Given the description of an element on the screen output the (x, y) to click on. 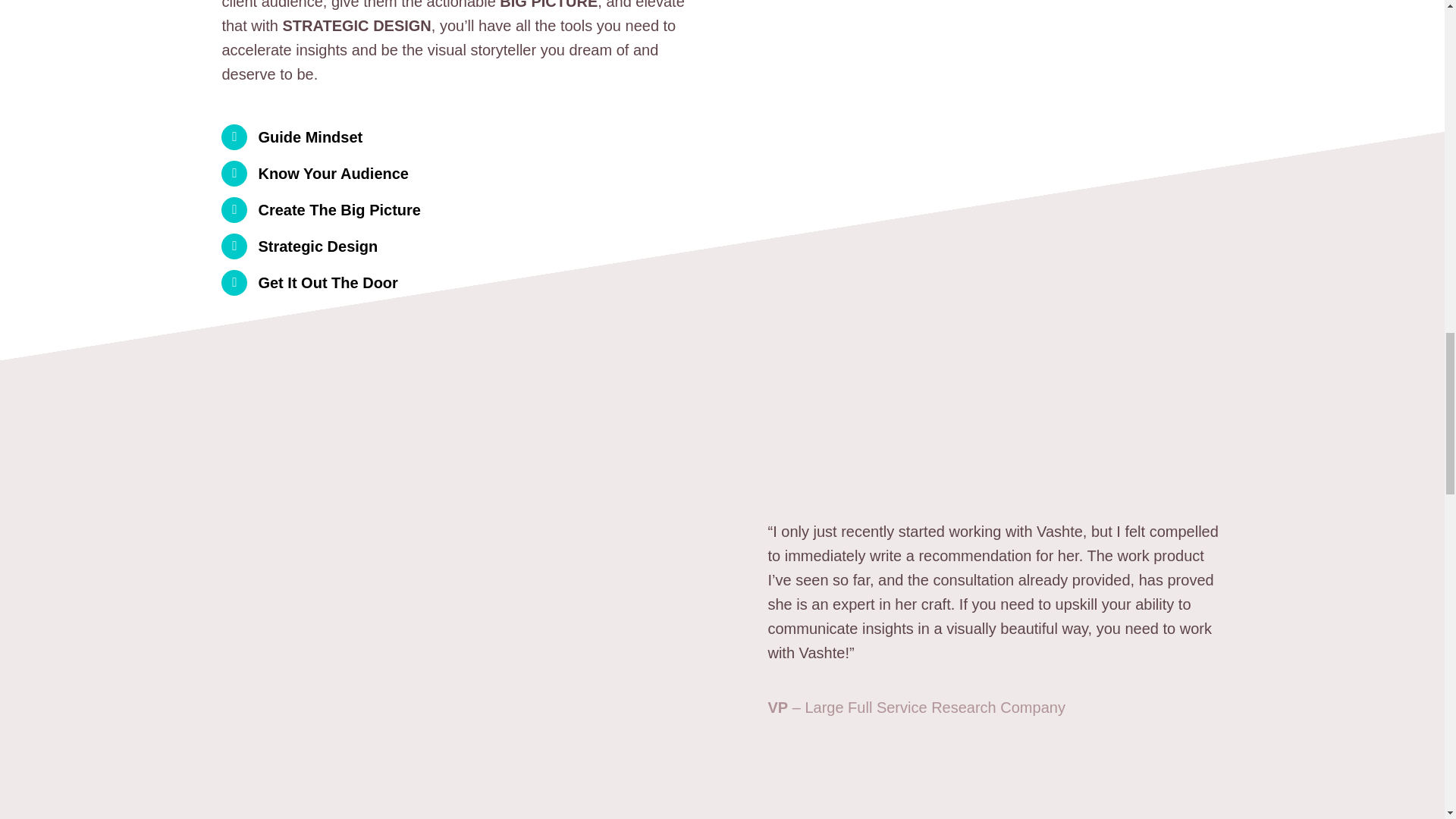
quotes (789, 470)
